Given the description of an element on the screen output the (x, y) to click on. 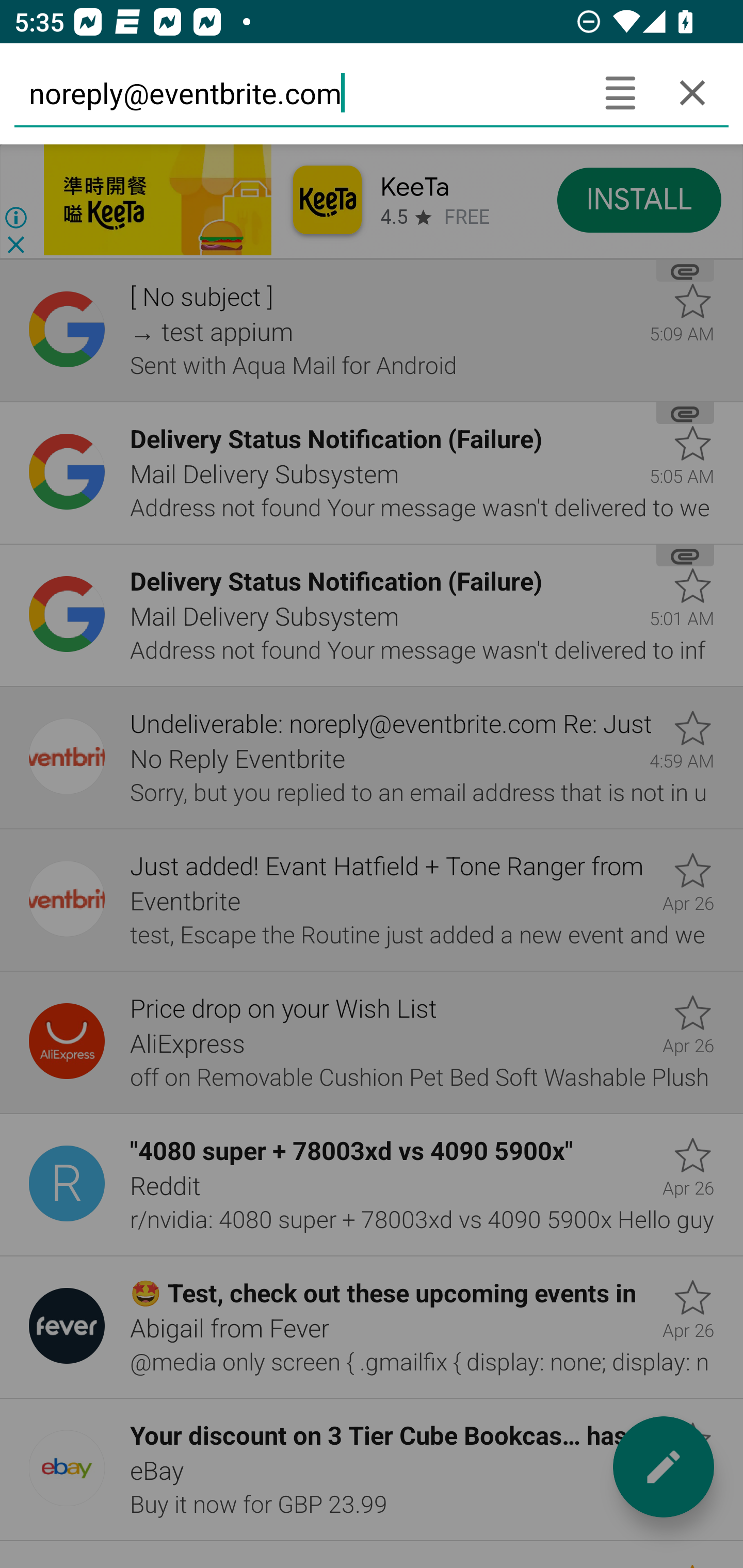
noreply@eventbrite.com (298, 92)
Search headers only (619, 92)
Cancel (692, 92)
